Given the description of an element on the screen output the (x, y) to click on. 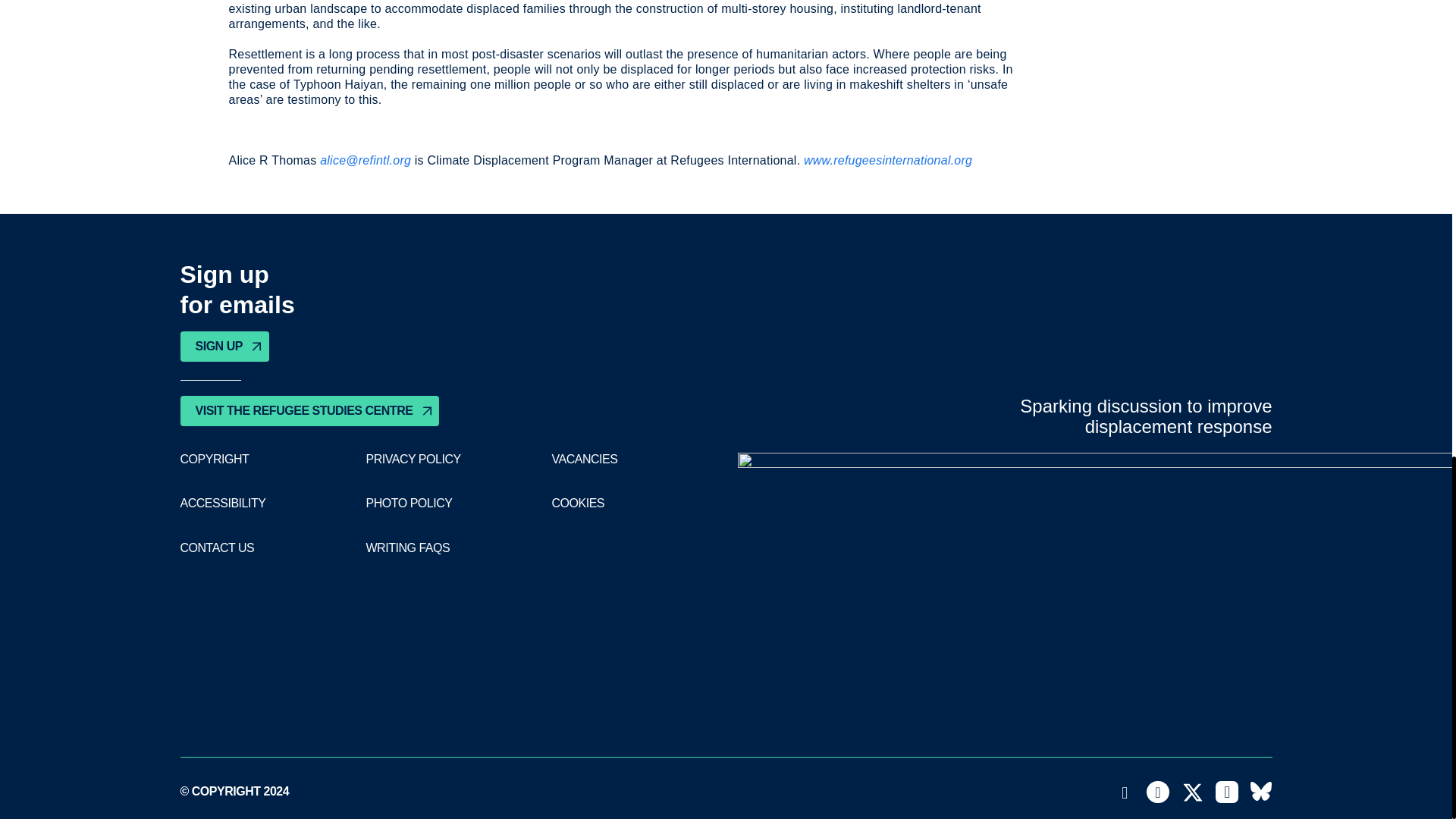
ACCESSIBILITY (223, 503)
COPYRIGHT (214, 459)
WRITING FAQS (407, 548)
Facebook (1158, 792)
CONTACT US (217, 548)
Twitter (1192, 792)
Email (1124, 791)
VISIT THE REFUGEE STUDIES CENTRE (309, 410)
www.refugeesinternational.org (887, 160)
Twitter (1192, 792)
